Given the description of an element on the screen output the (x, y) to click on. 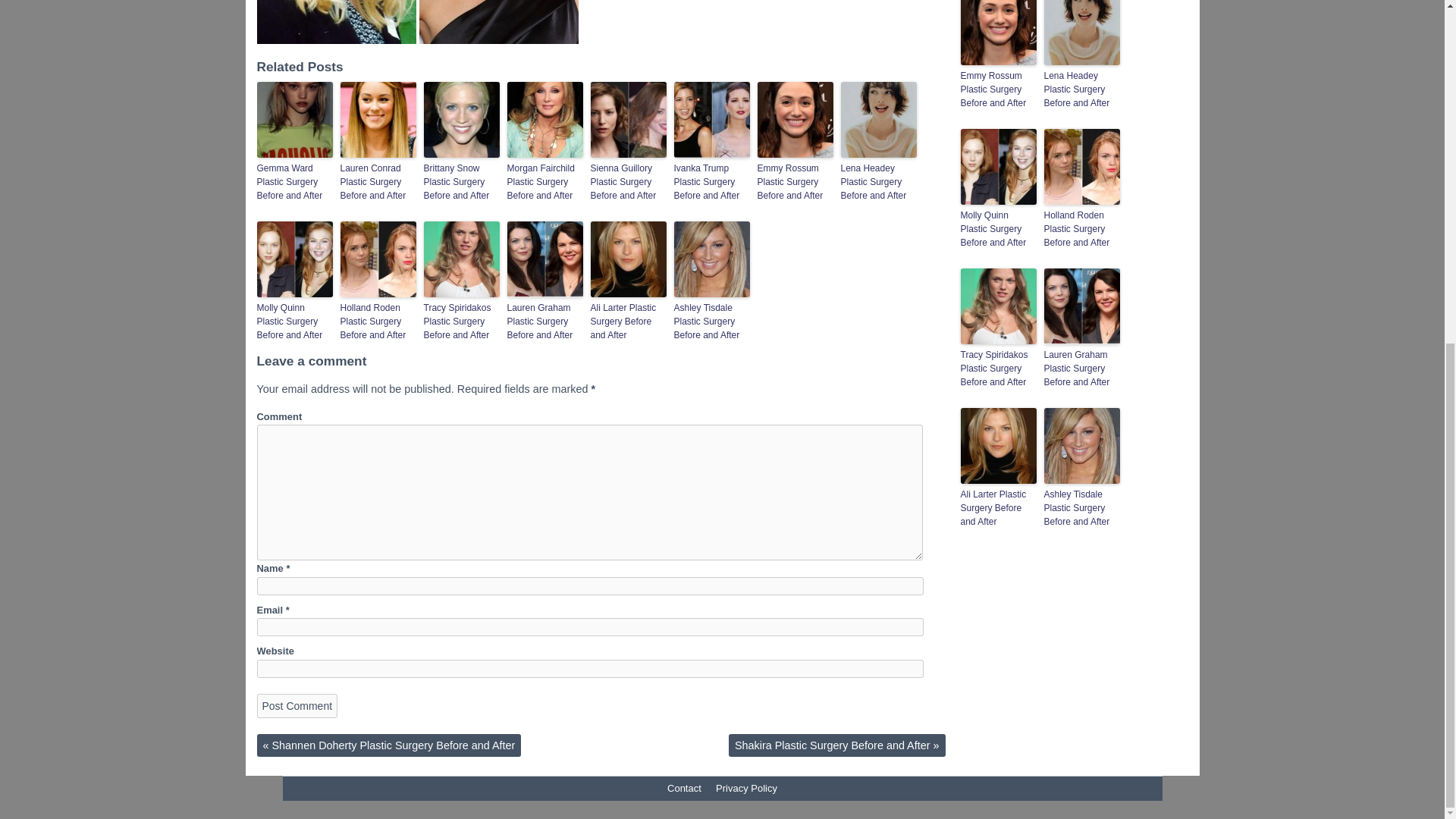
Emmy Rossum Plastic Surgery Before and After (794, 181)
Morgan Fairchild Plastic Surgery Before and After (544, 181)
Lauren Graham Plastic Surgery Before and After (544, 321)
Tracy Spiridakos Plastic Surgery Before and After (461, 321)
Gemma Ward Plastic Surgery Before and After (293, 181)
Brittany Snow Plastic Surgery Before and After (461, 181)
Ali Larter Plastic Surgery Before and After (627, 321)
Molly Quinn Plastic Surgery Before and After (293, 321)
Lena Headey Plastic Surgery Before and After (877, 181)
Ivanka Trump Plastic Surgery Before and After (710, 181)
Post Comment (296, 705)
Holland Roden Plastic Surgery Before and After (376, 321)
Sienna Guillory Plastic Surgery Before and After (627, 181)
Lauren Conrad Plastic Surgery Before and After (376, 181)
